Given the description of an element on the screen output the (x, y) to click on. 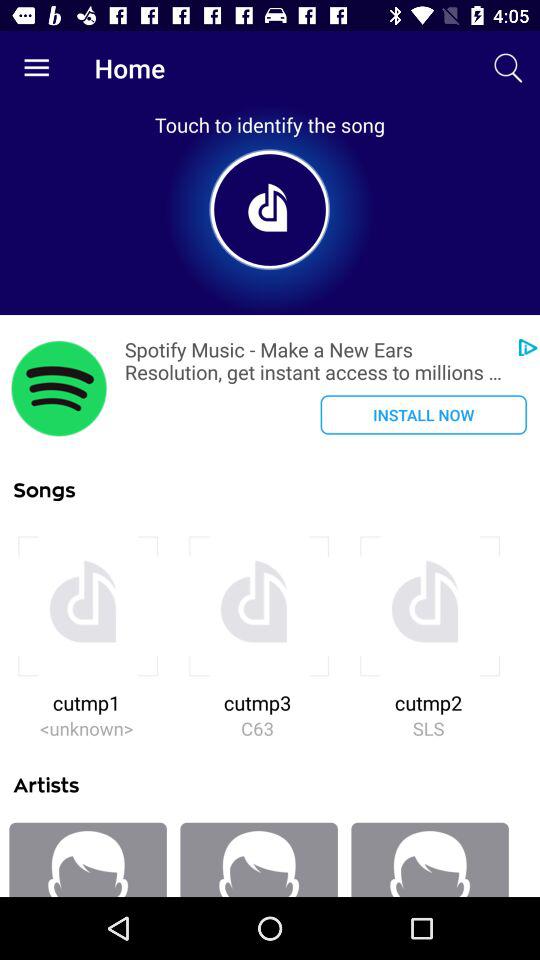
launch icon next to home (508, 67)
